Given the description of an element on the screen output the (x, y) to click on. 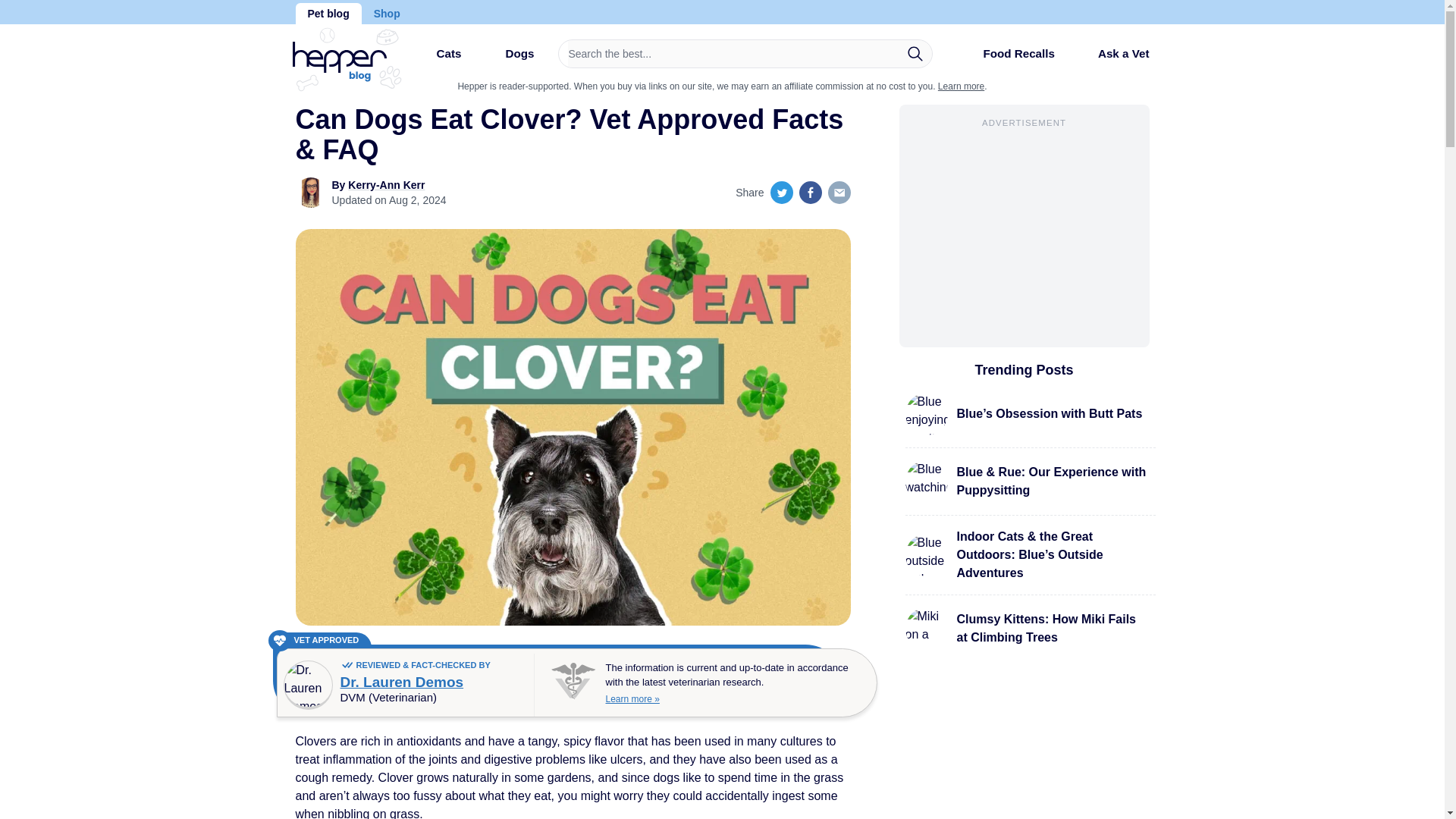
Dr. Lauren Demos (401, 682)
Ask a Vet (1111, 53)
Learn more (960, 86)
Food Recalls (1005, 59)
Kerry-Ann Kerr (386, 184)
Cats (435, 59)
Shop (387, 13)
Vet photo (308, 685)
Dogs (506, 59)
